Given the description of an element on the screen output the (x, y) to click on. 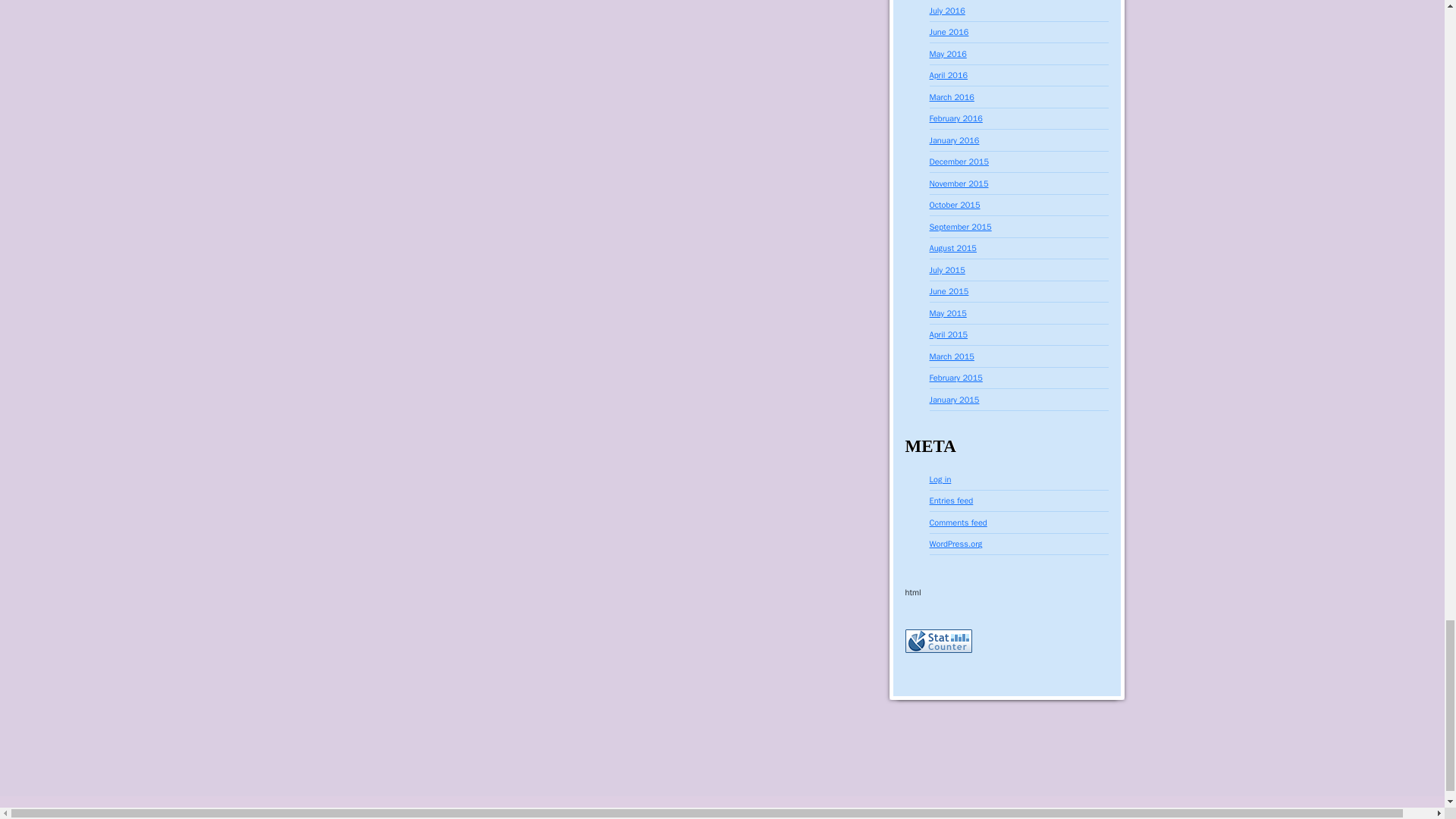
Semantic Personal Publishing Platform (105, 812)
site stats (938, 639)
